Given the description of an element on the screen output the (x, y) to click on. 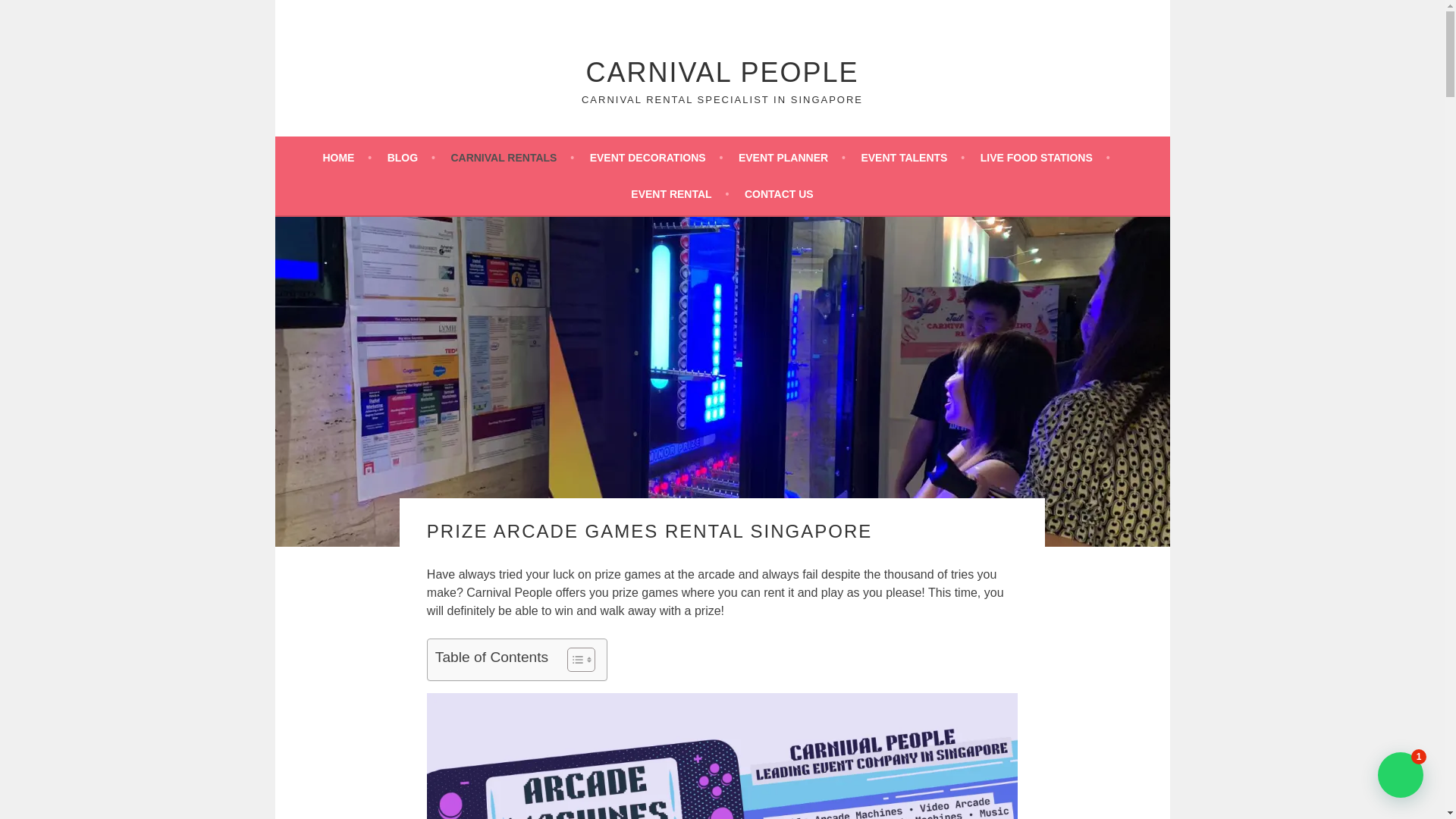
Carnival People (722, 71)
BLOG (411, 157)
CARNIVAL PEOPLE (722, 71)
EVENT PLANNER (791, 157)
LIVE FOOD STATIONS (1044, 157)
EVENT TALENTS (911, 157)
CARNIVAL RENTALS (511, 157)
HOME (346, 157)
Prize Arcade Games Rental Singapore 2 (721, 755)
EVENT DECORATIONS (656, 157)
